Given the description of an element on the screen output the (x, y) to click on. 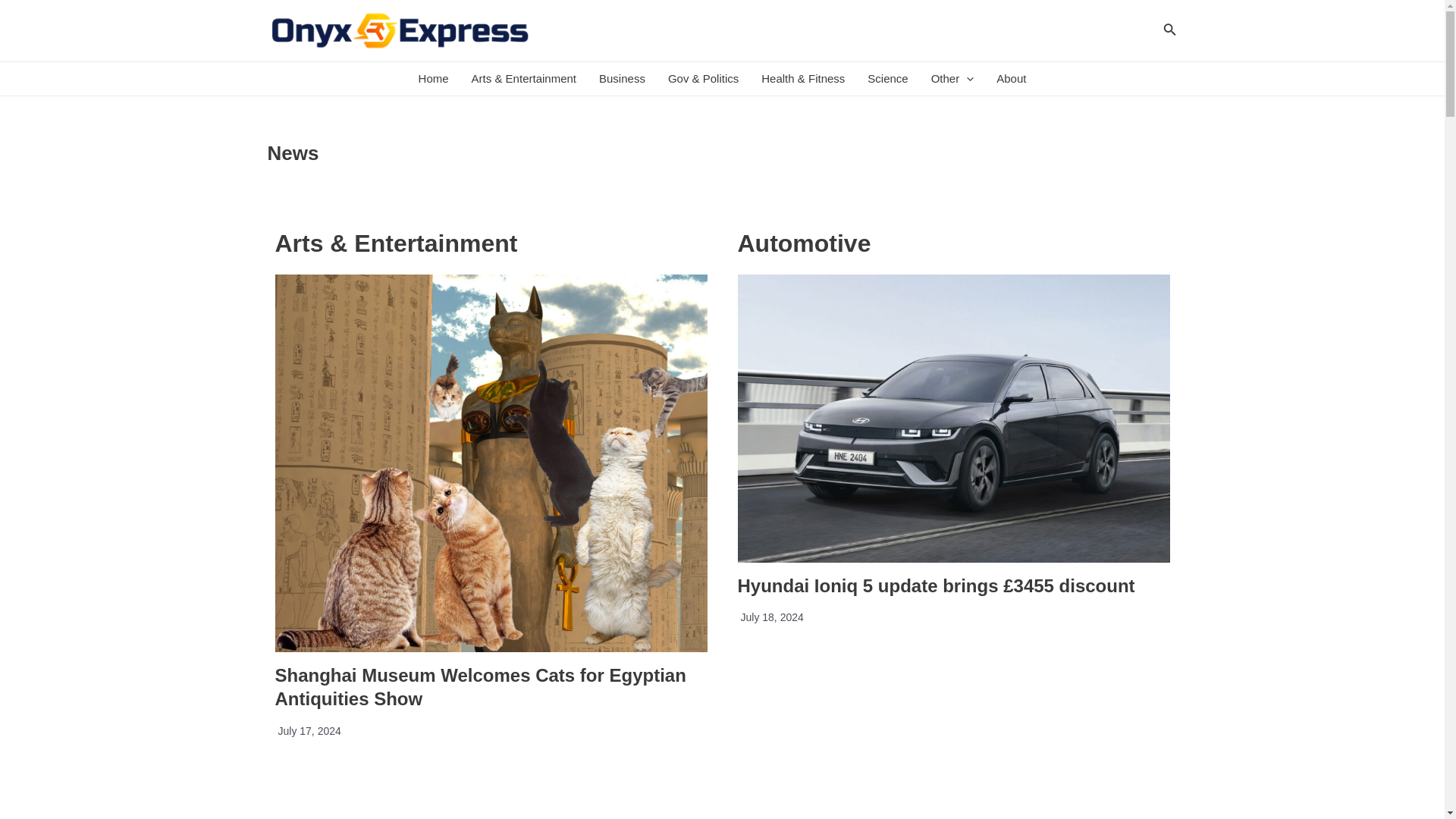
Business (622, 78)
Other (952, 78)
Home (433, 78)
Science (887, 78)
About (1010, 78)
